Given the description of an element on the screen output the (x, y) to click on. 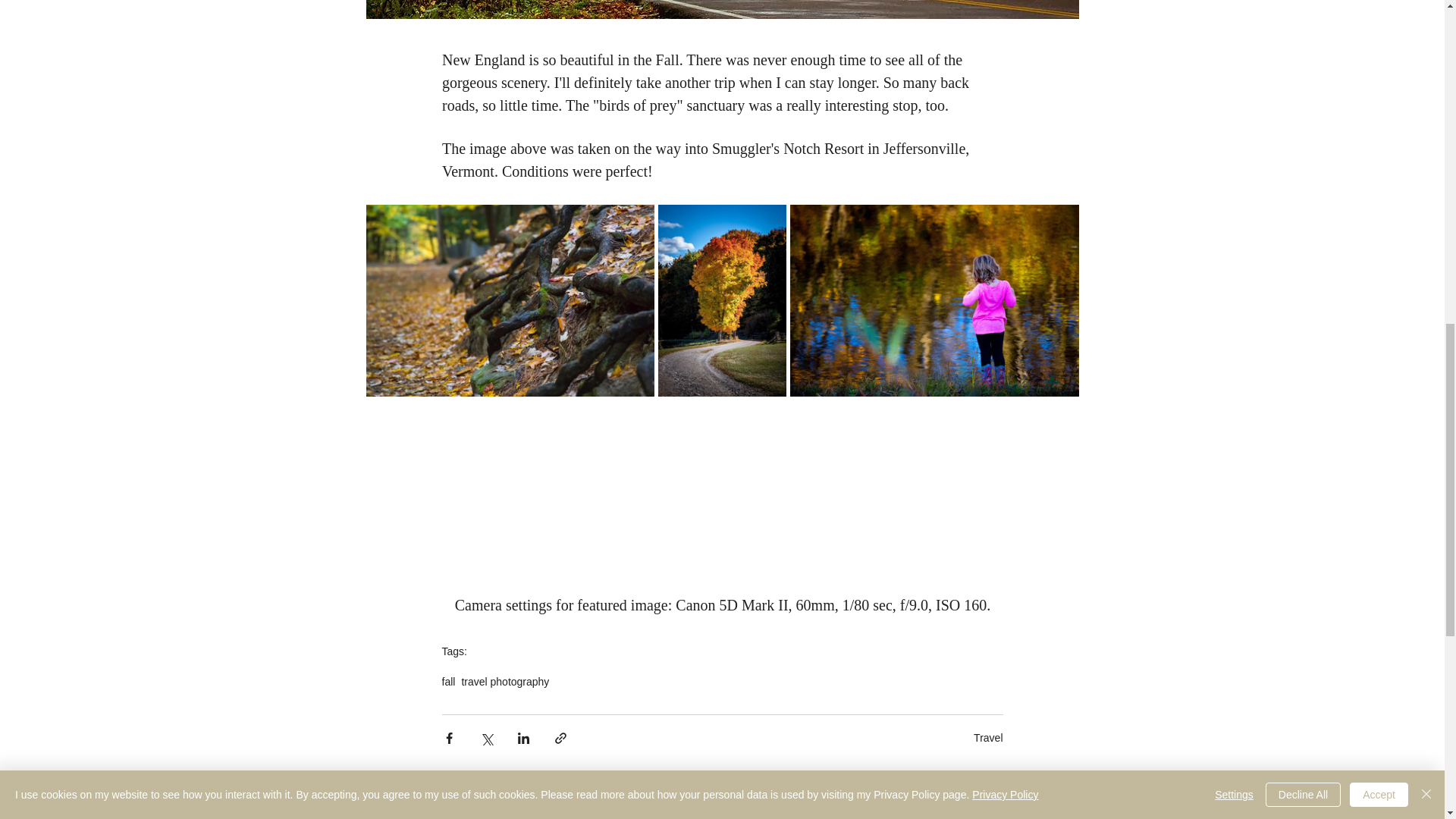
fall (447, 681)
travel photography (504, 681)
Travel (988, 737)
